Given the description of an element on the screen output the (x, y) to click on. 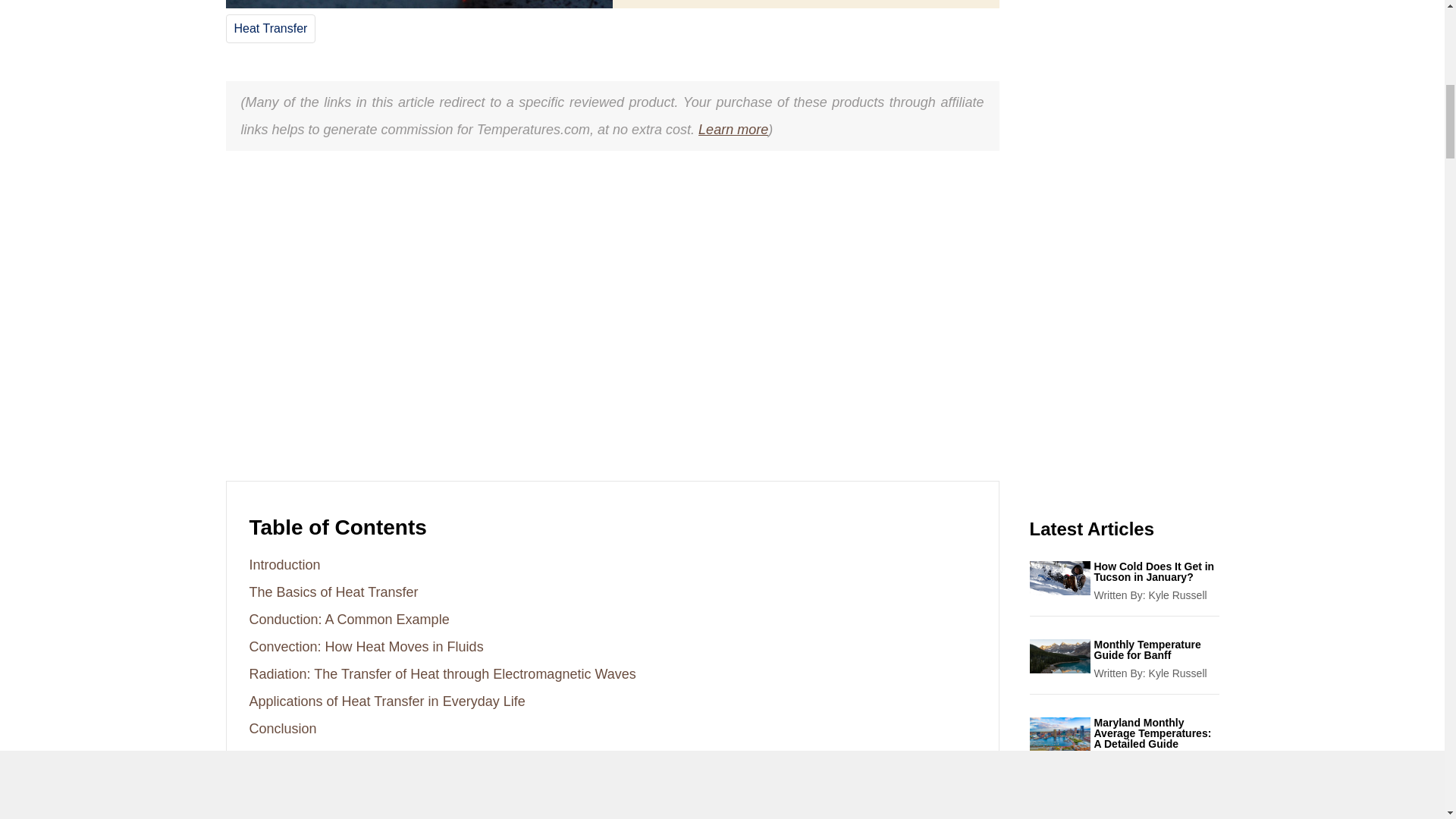
Heat Transfer (269, 28)
Learn more (733, 129)
Introduction (284, 564)
